Given the description of an element on the screen output the (x, y) to click on. 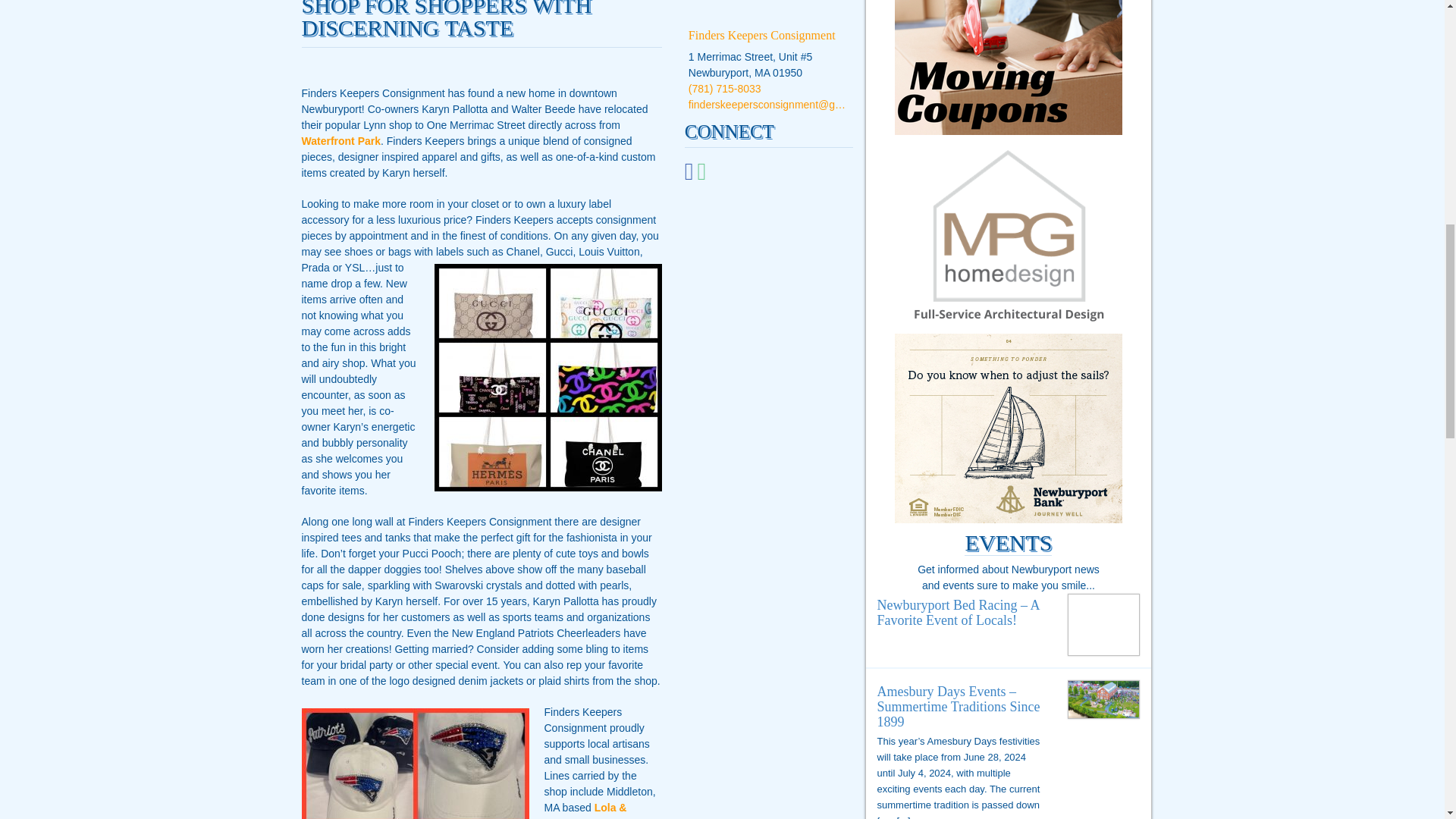
Waterfront Park (341, 141)
Finders Keepers Consignment (761, 34)
